Given the description of an element on the screen output the (x, y) to click on. 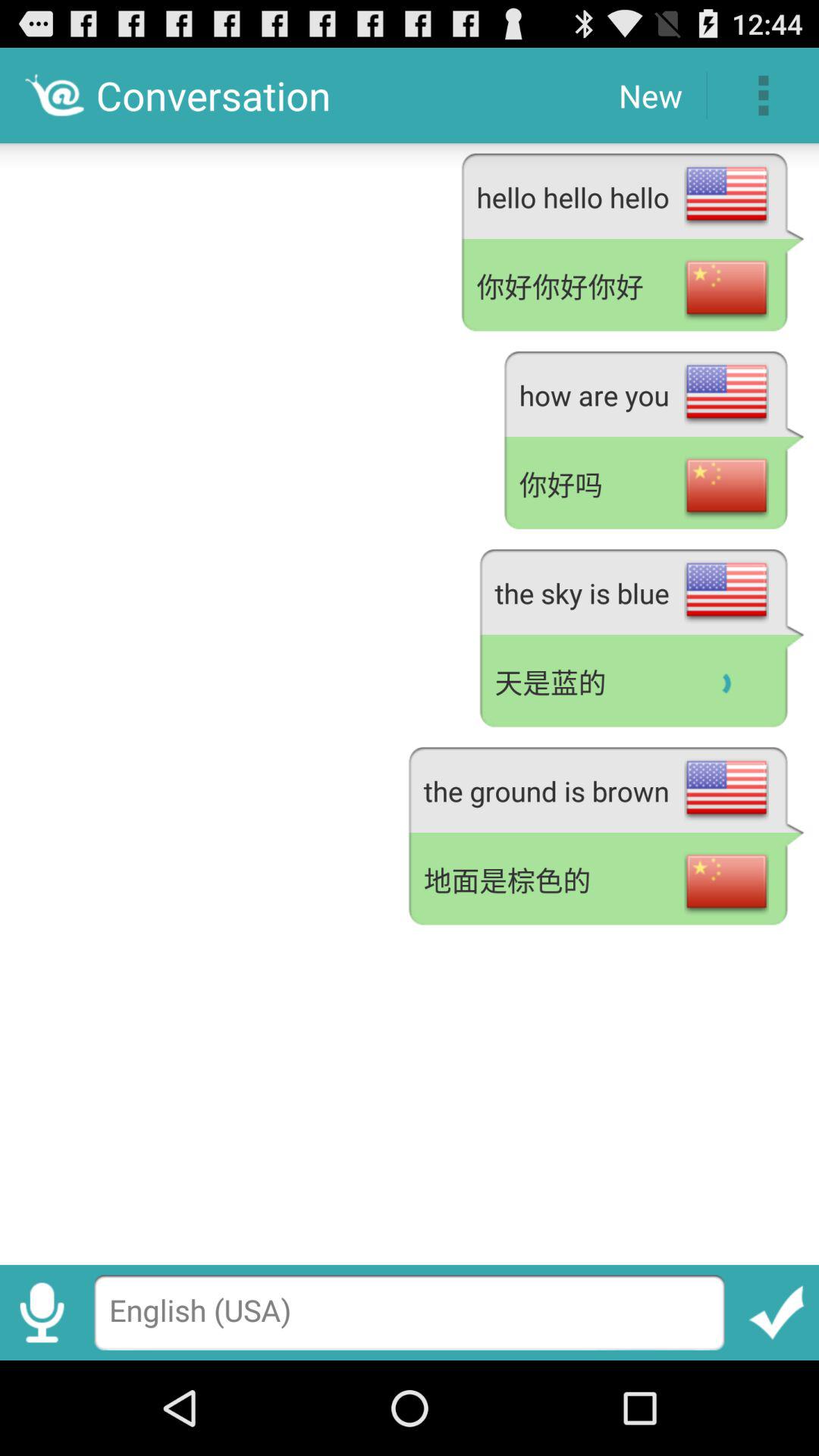
translate text (776, 1312)
